Given the description of an element on the screen output the (x, y) to click on. 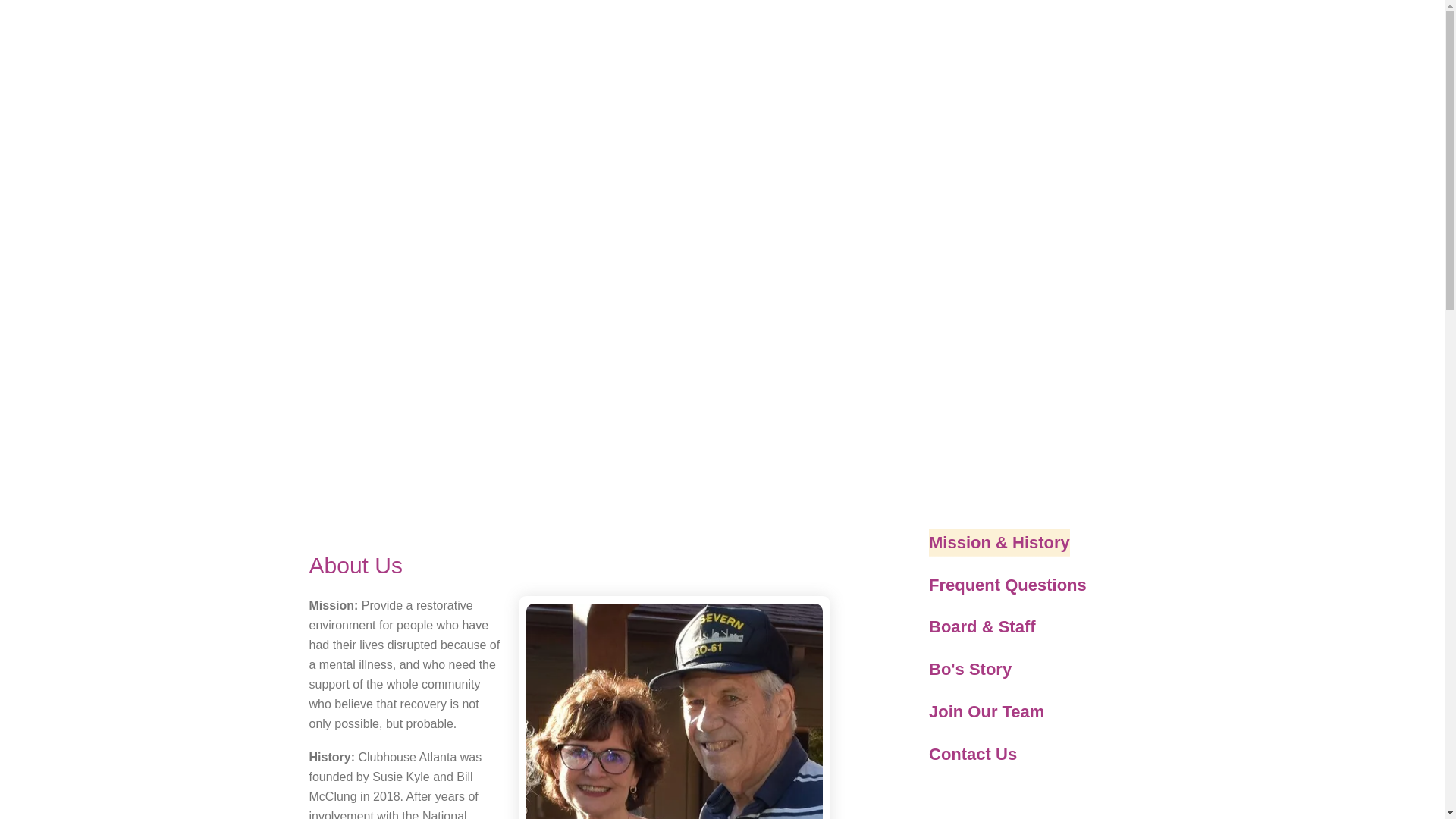
Join Our Team (985, 711)
Contact Us (972, 754)
Bo's Story (969, 669)
Frequent Questions (1007, 584)
